Given the description of an element on the screen output the (x, y) to click on. 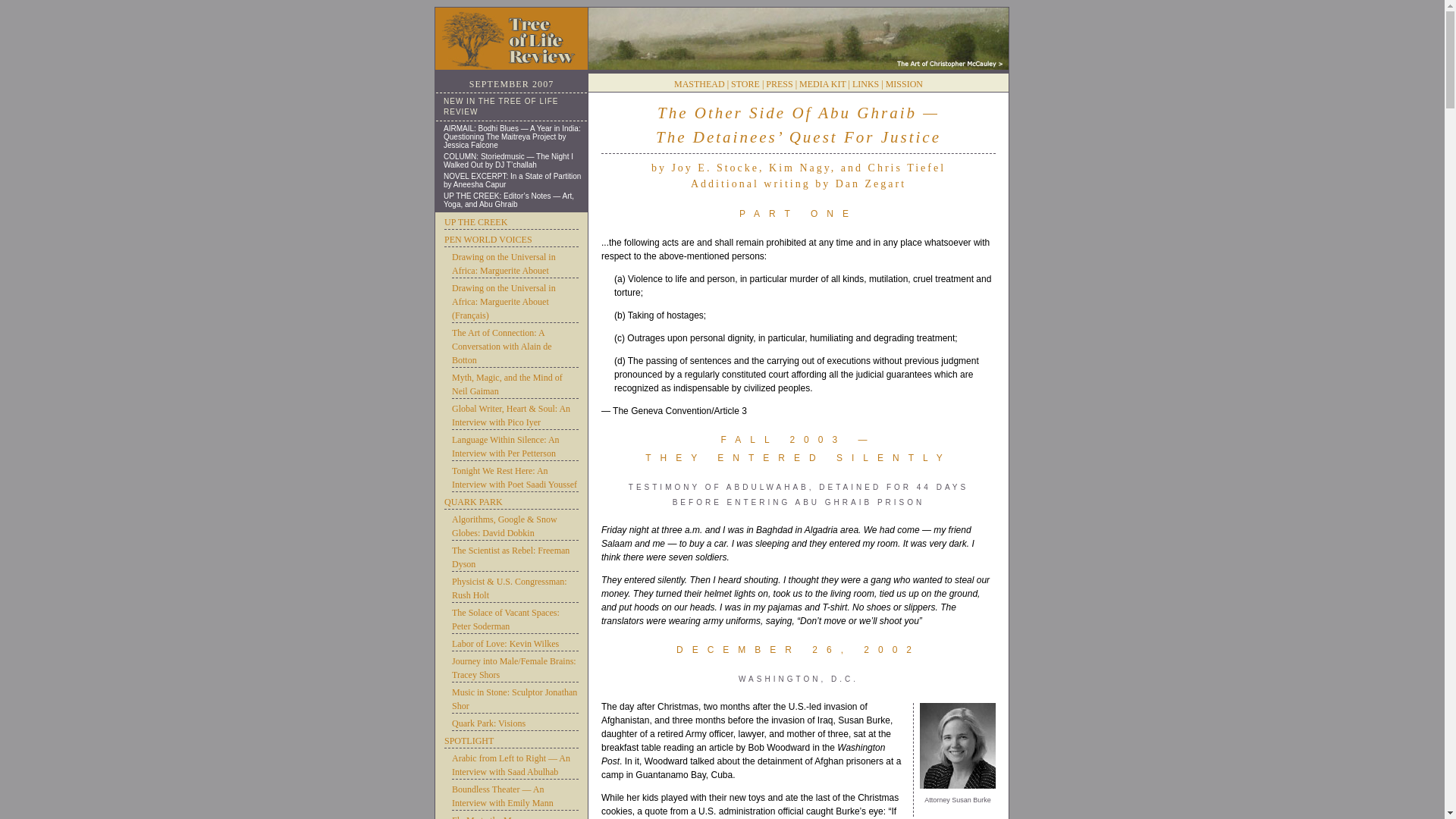
SPOTLIGHT (511, 740)
STORE (745, 83)
Tonight We Rest Here: An Interview with Poet Saadi Youssef (514, 478)
The Art of Connection: A Conversation with Alain de Botton (514, 346)
MASTHEAD (699, 83)
The Scientist as Rebel: Freeman Dyson (514, 557)
MISSION (904, 83)
LINKS (865, 83)
MEDIA KIT (822, 83)
Labor of Love: Kevin Wilkes (514, 644)
